Given the description of an element on the screen output the (x, y) to click on. 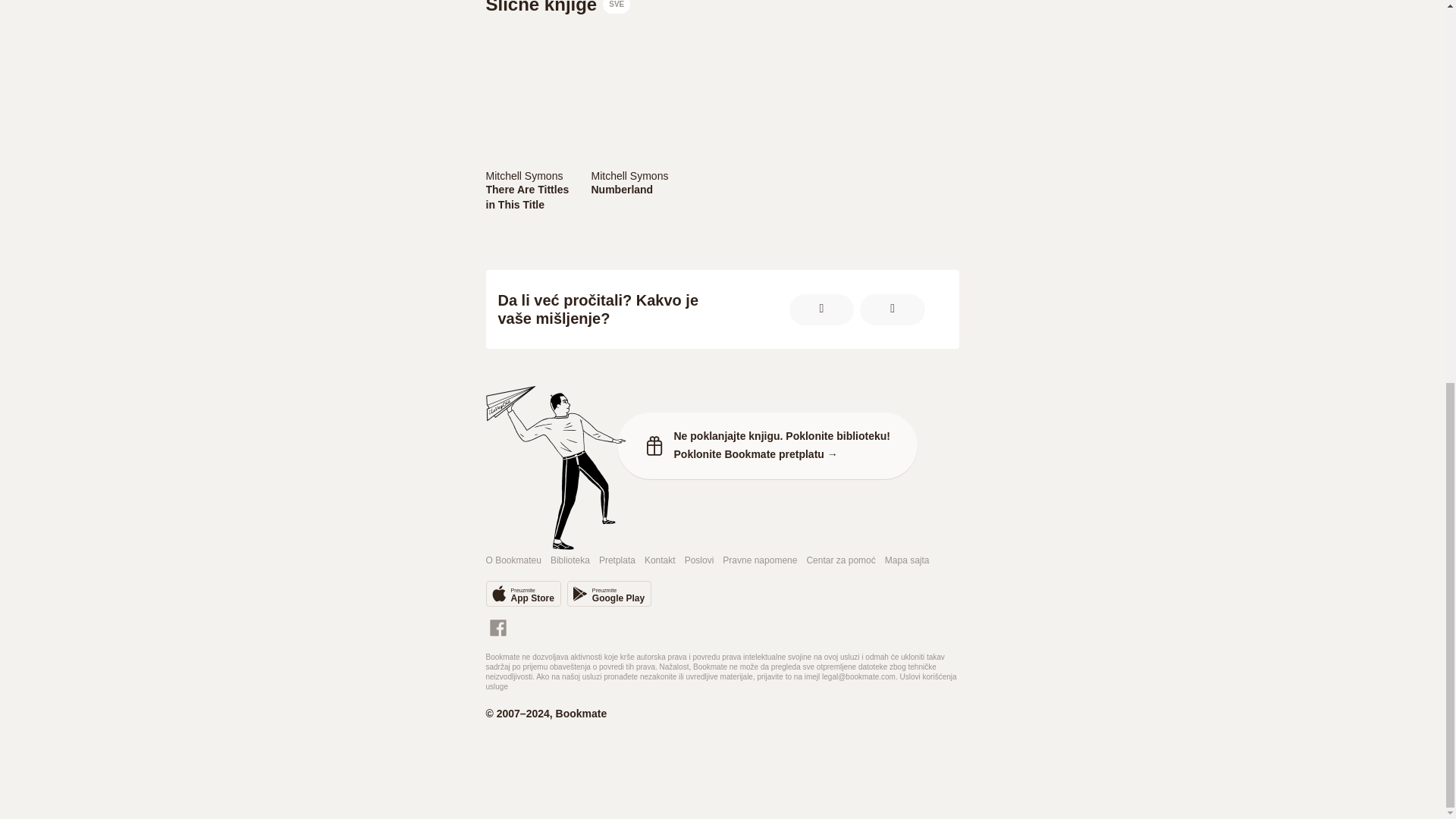
Mitchell Symons (634, 174)
Kontakt (660, 560)
Mitchell Symons (608, 593)
Numberland (527, 174)
There Are Tittles in This Title (522, 593)
Numberland (634, 189)
Biblioteka (527, 196)
Poslovi (634, 189)
